Given the description of an element on the screen output the (x, y) to click on. 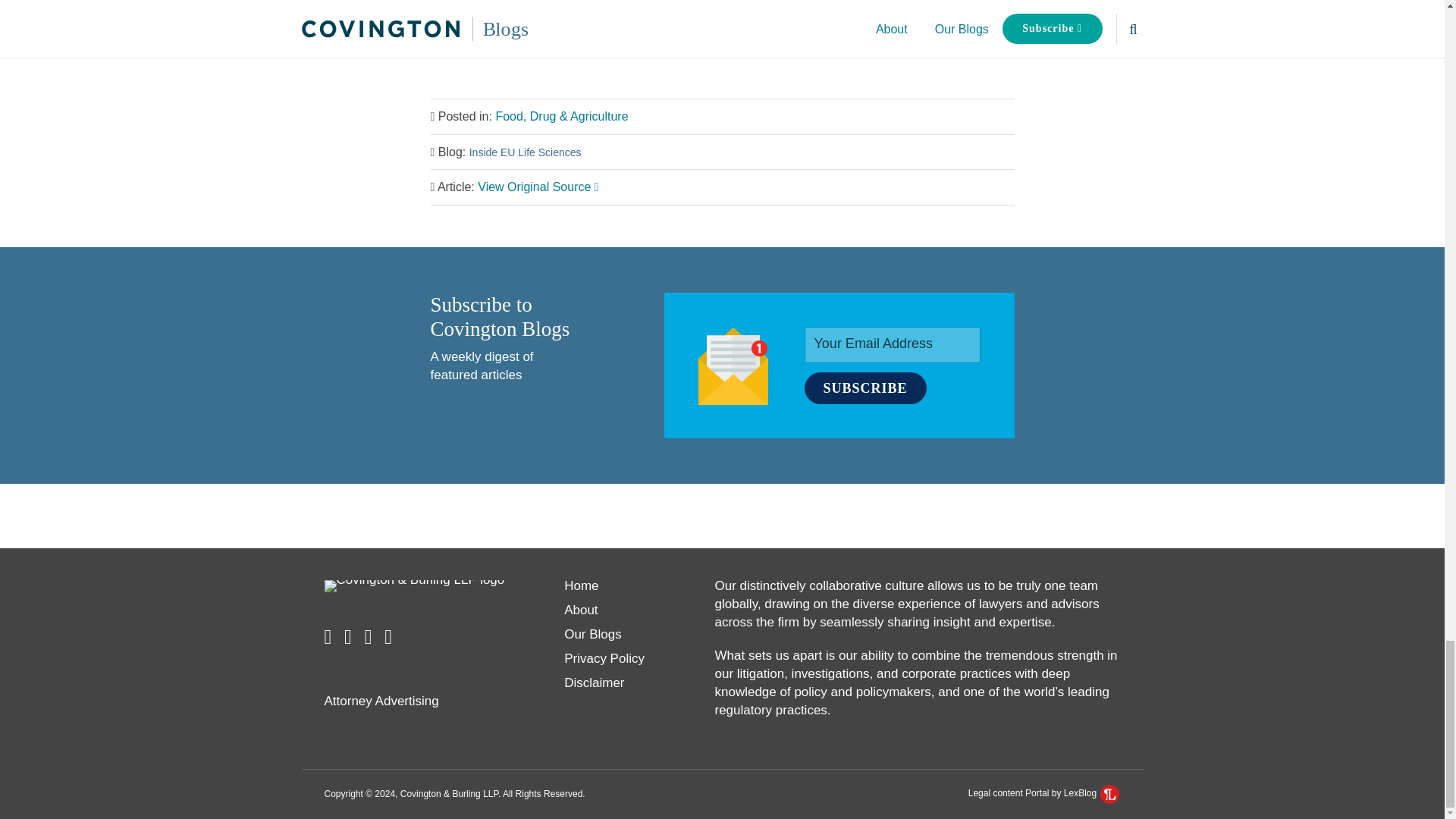
LexBlog Logo (1109, 793)
SUBSCRIBE (864, 388)
Read more about Dan Spivey (458, 23)
